Given the description of an element on the screen output the (x, y) to click on. 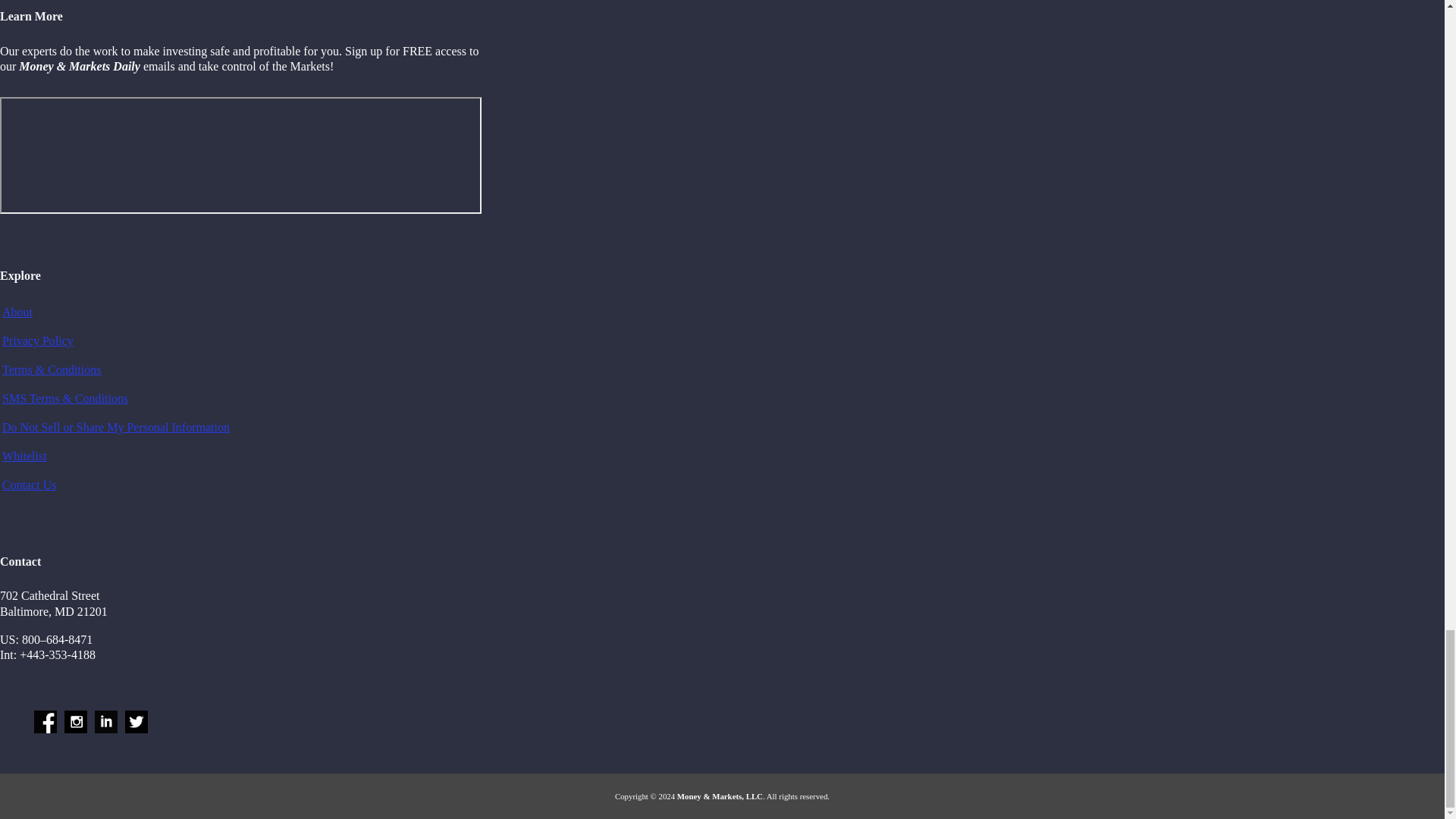
Privacy Policy (38, 340)
Contact Us (29, 484)
About (17, 311)
Do Not Sell or Share My Personal Information (116, 427)
Whitelist (24, 455)
